Given the description of an element on the screen output the (x, y) to click on. 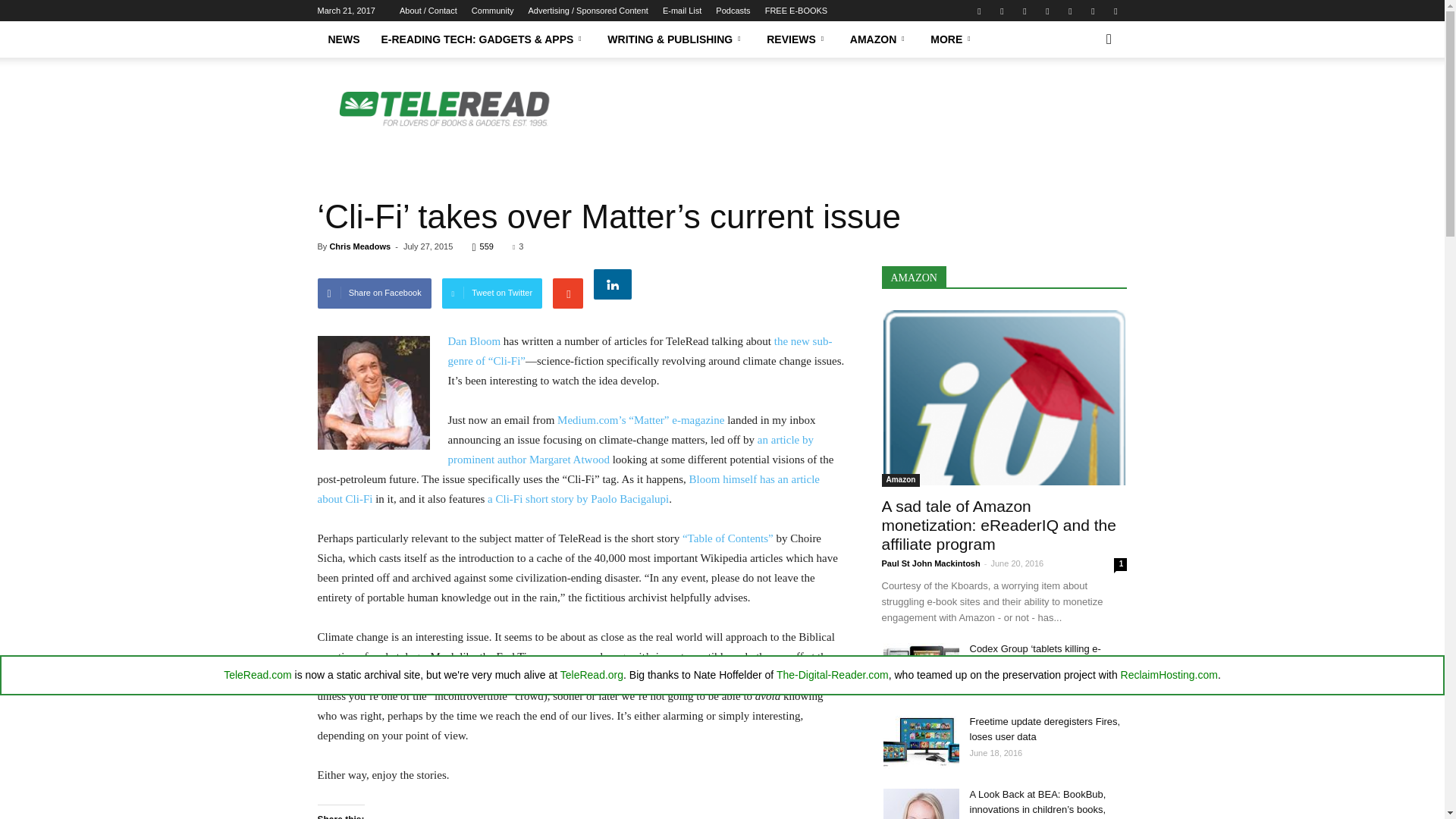
Linkedin (1024, 10)
E-mail List (681, 10)
RSS (1069, 10)
Tumblr (1092, 10)
NEWS (343, 39)
Facebook (979, 10)
Podcasts (732, 10)
Pinterest (1046, 10)
Community (492, 10)
Twitter (1114, 10)
FREE E-BOOKS (796, 10)
